Given the description of an element on the screen output the (x, y) to click on. 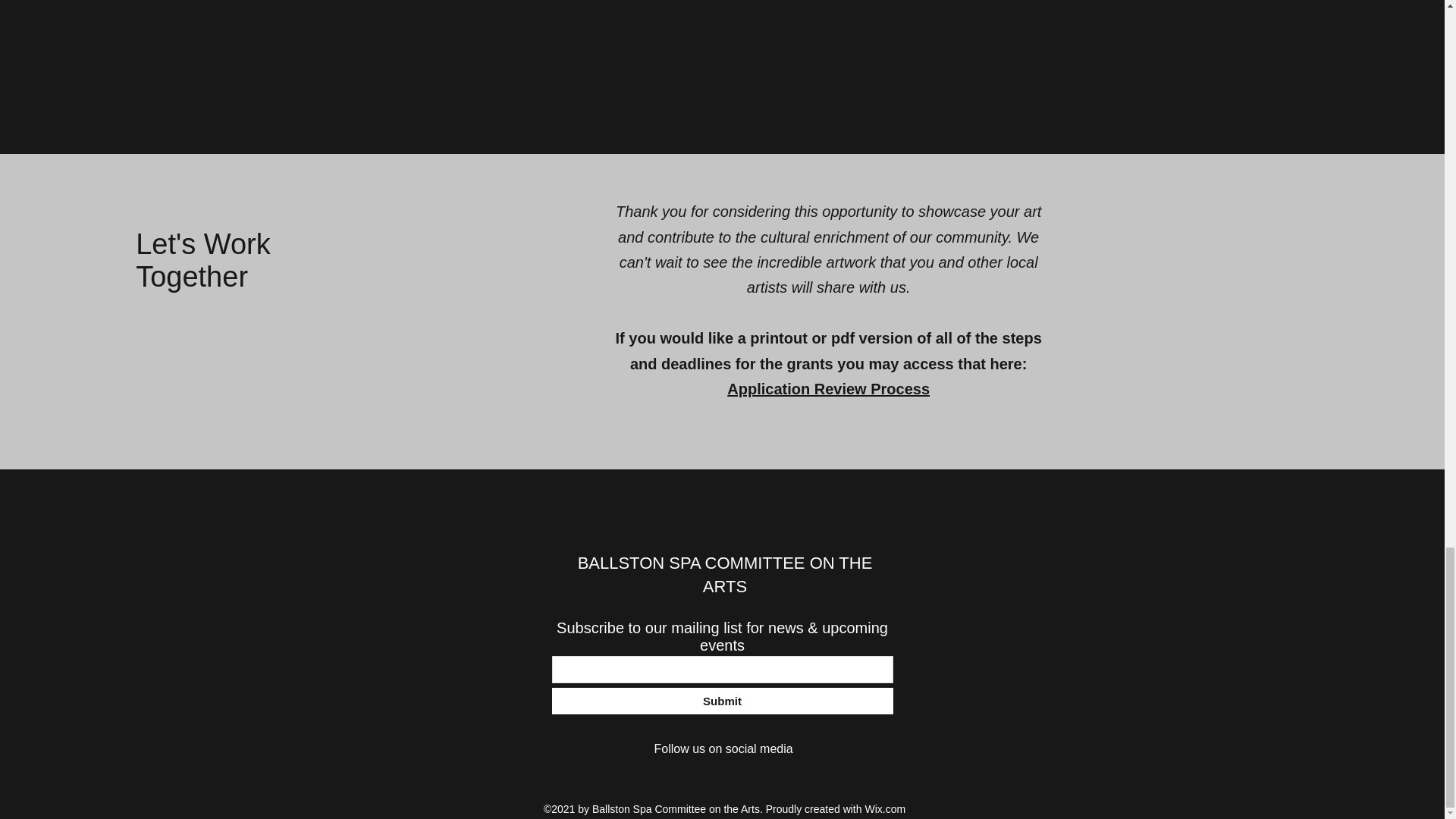
Application Review Process (828, 388)
Submit (722, 700)
BALLSTON SPA COMMITTEE ON THE ARTS (725, 574)
